Given the description of an element on the screen output the (x, y) to click on. 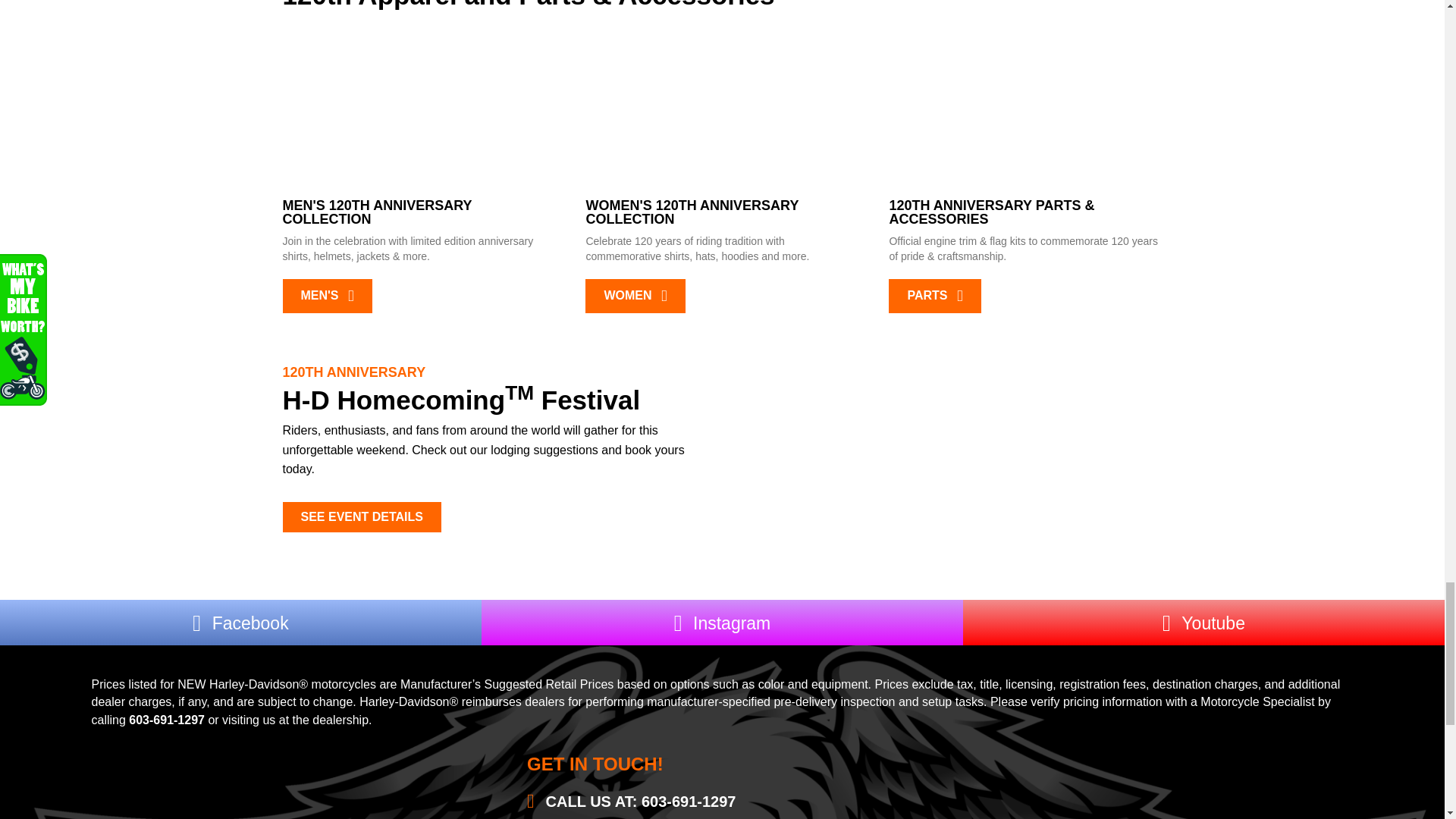
womens-hd-apparel (722, 108)
adversary-black-card (1024, 108)
mens-hd-apparel (418, 108)
